Given the description of an element on the screen output the (x, y) to click on. 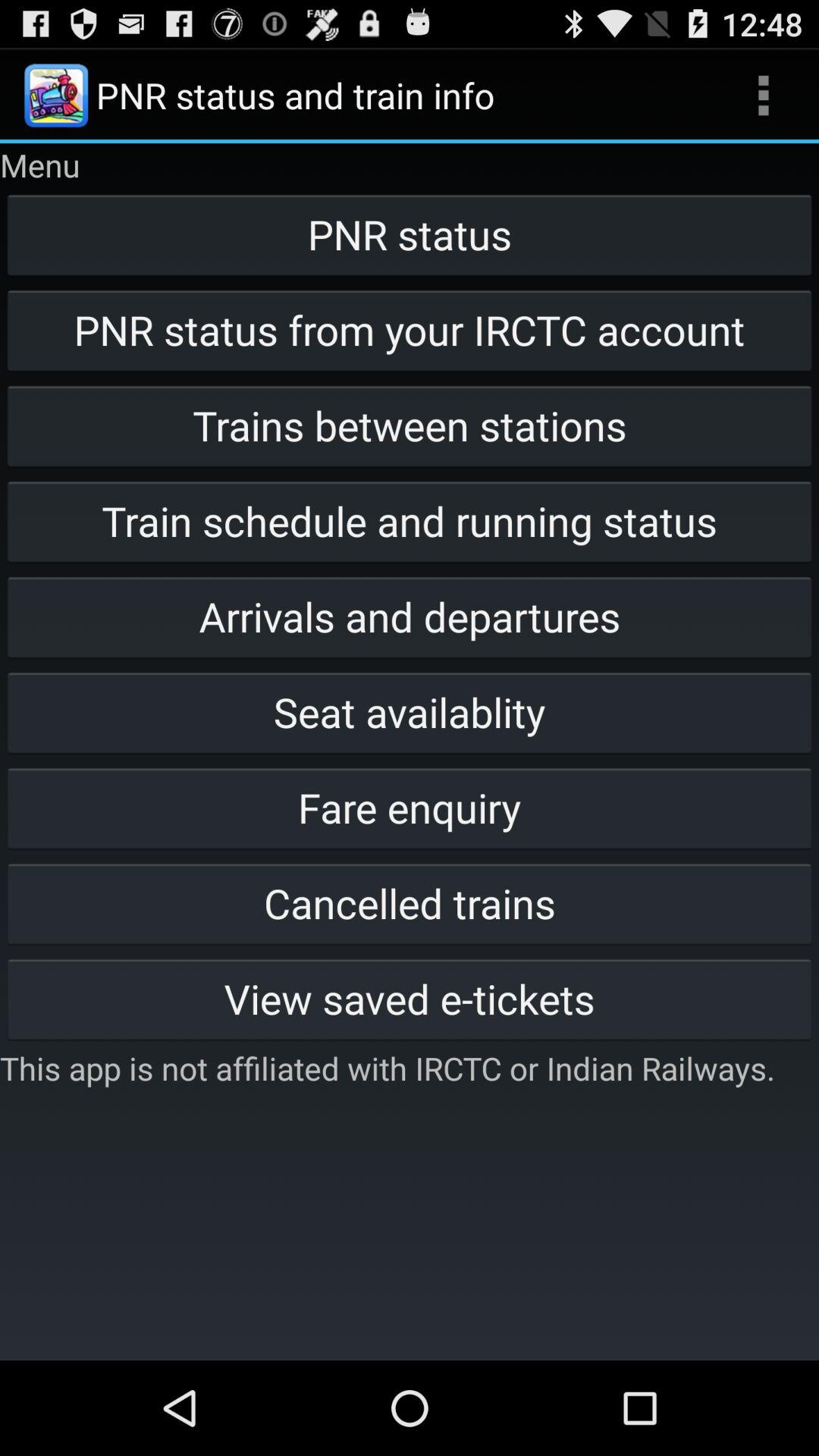
choose the arrivals and departures (409, 616)
